Given the description of an element on the screen output the (x, y) to click on. 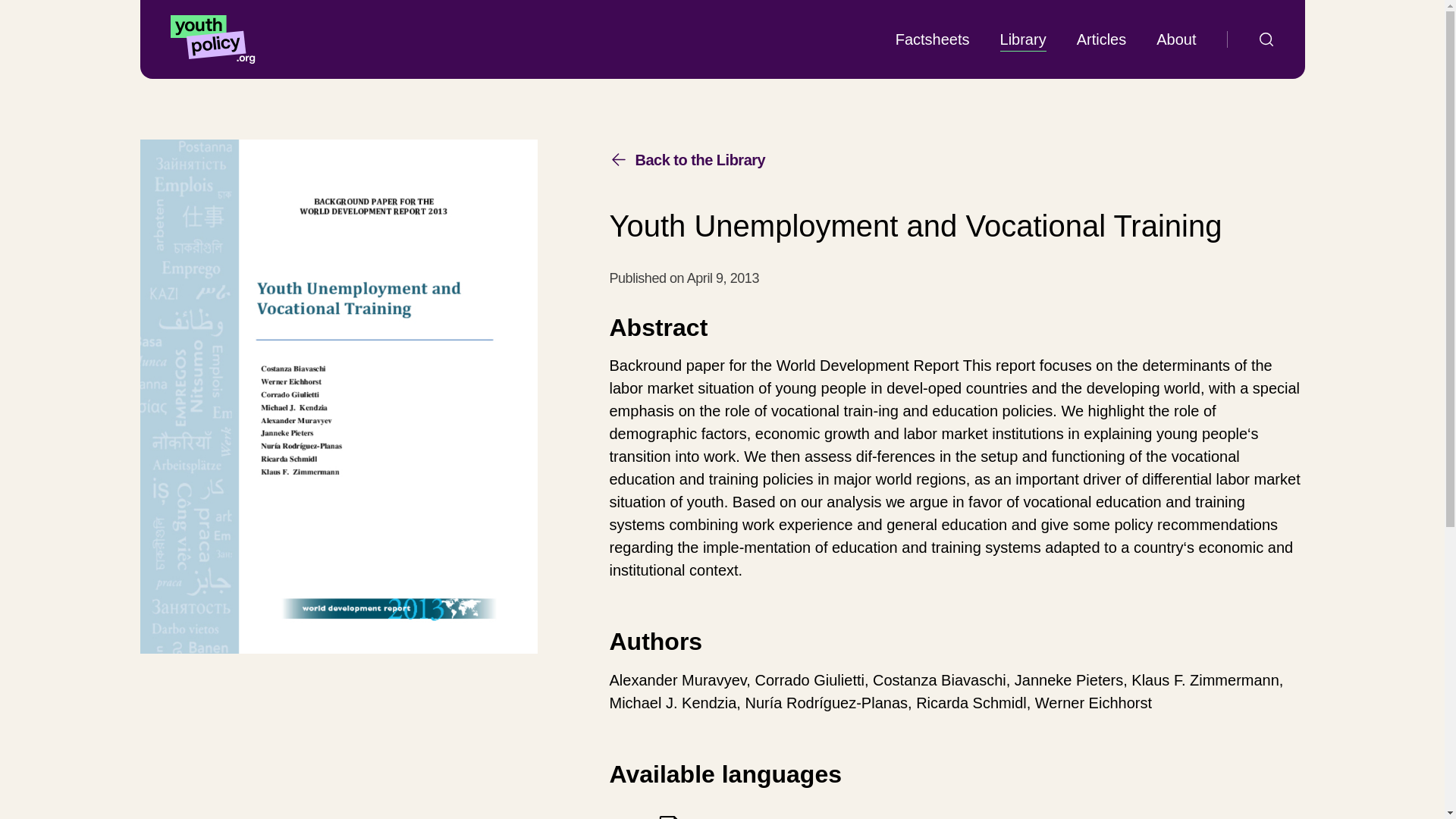
Library (1023, 39)
Articles (1101, 39)
About (669, 816)
Back to the Library (1175, 39)
Factsheets (687, 159)
